Given the description of an element on the screen output the (x, y) to click on. 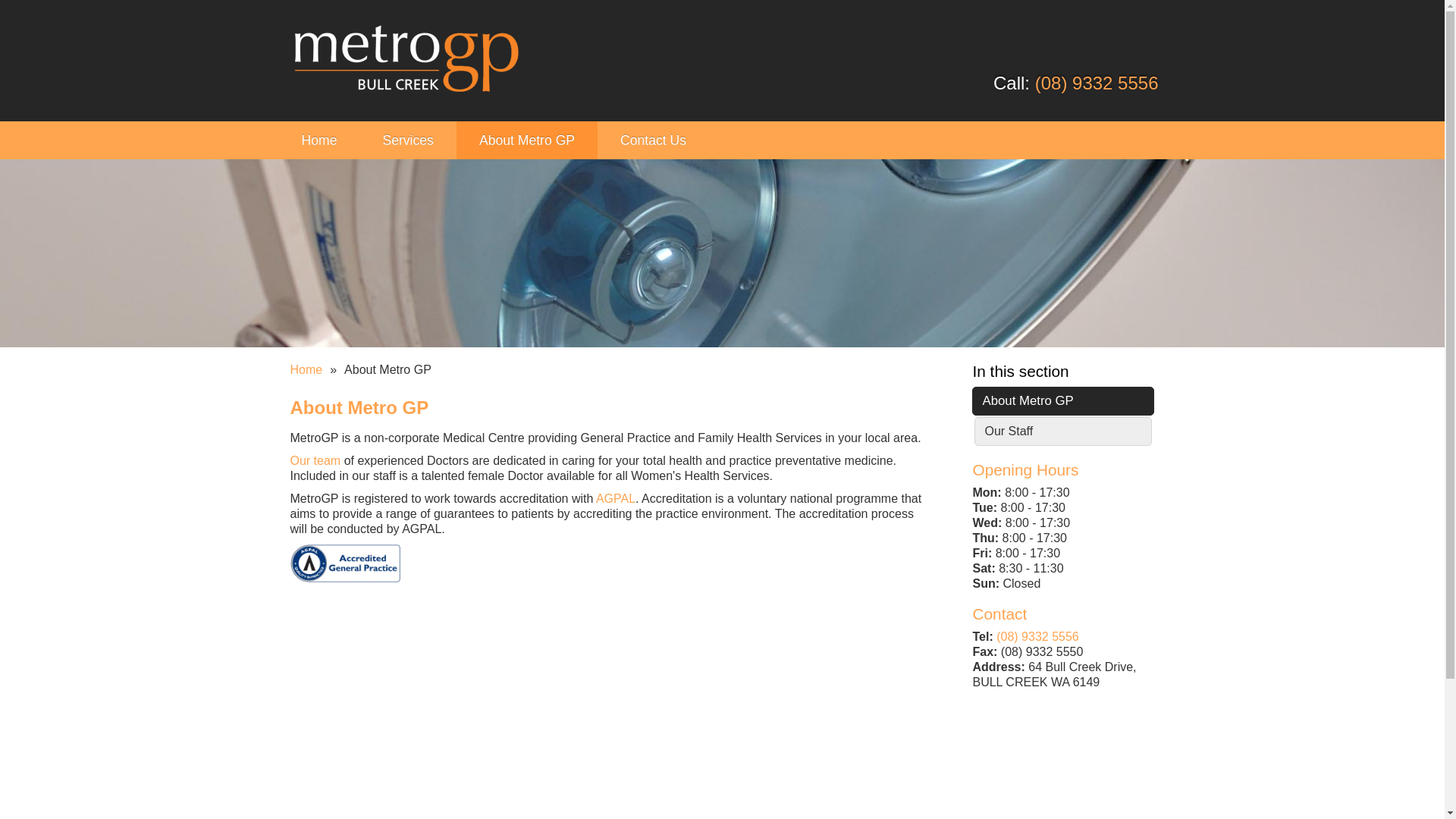
Home Element type: text (319, 140)
About Metro GP Element type: text (526, 140)
AGPAL Element type: text (615, 498)
(08) 9332 5556 Element type: text (1037, 636)
AGPAL Logo Element type: hover (346, 563)
Metro GP - Lights Element type: hover (722, 251)
Services Element type: text (407, 140)
Metro GP Element type: text (405, 60)
Our team Element type: text (314, 460)
Home Element type: text (305, 369)
About Metro GP Element type: text (1063, 400)
Our Staff Element type: text (1062, 431)
Contact Us Element type: text (653, 140)
(08) 9332 5556 Element type: text (1096, 82)
